Given the description of an element on the screen output the (x, y) to click on. 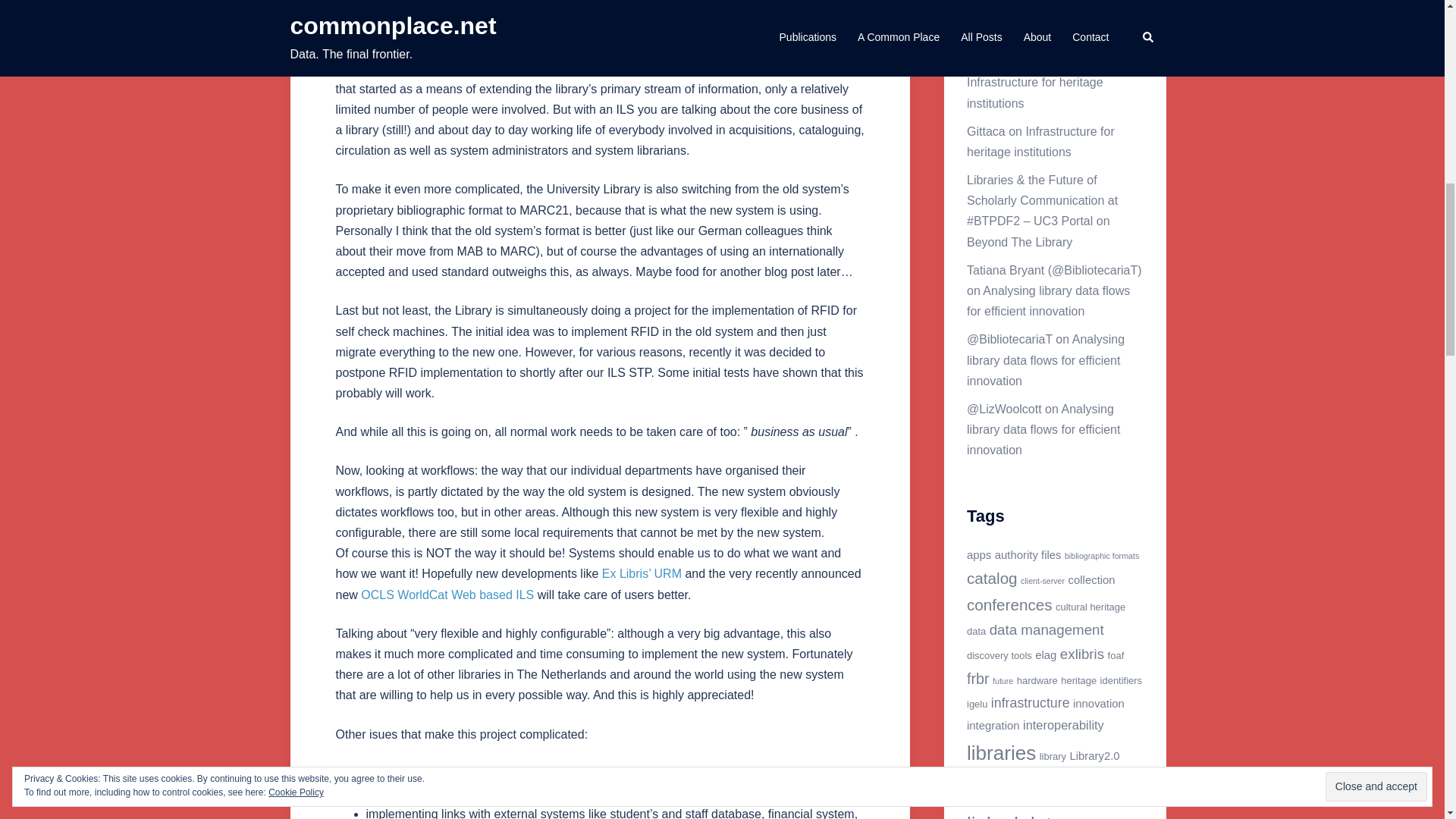
OCLS WorldCat Web based ILS (447, 594)
OCLS WorldCat Web based ILS (447, 594)
Ex Libris' URM (641, 573)
